Given the description of an element on the screen output the (x, y) to click on. 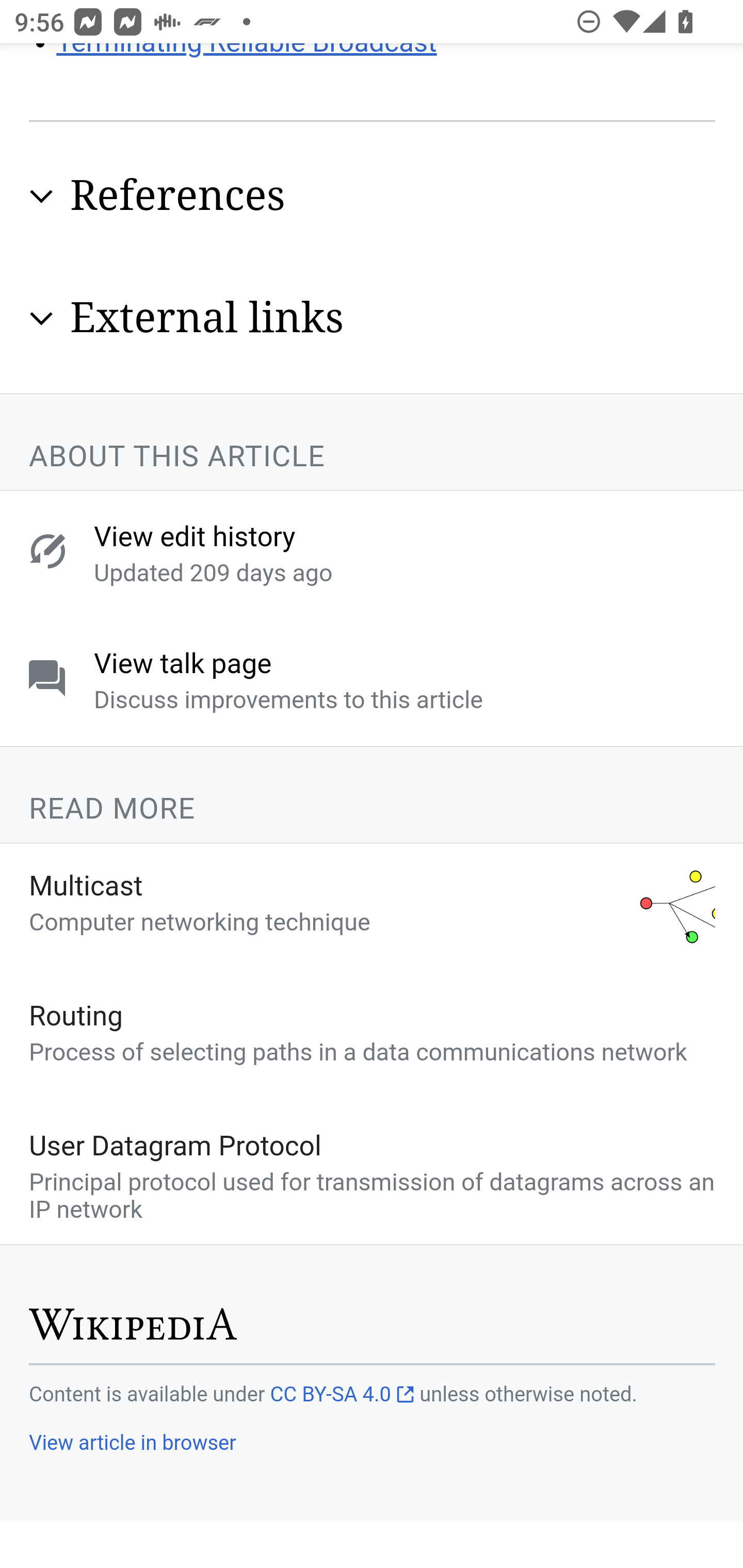
Expand section References (372, 197)
Expand section (41, 197)
Expand section External links (372, 320)
Expand section (41, 320)
CC BY-SA 4.0 (341, 1395)
View article in browser (132, 1443)
